Given the description of an element on the screen output the (x, y) to click on. 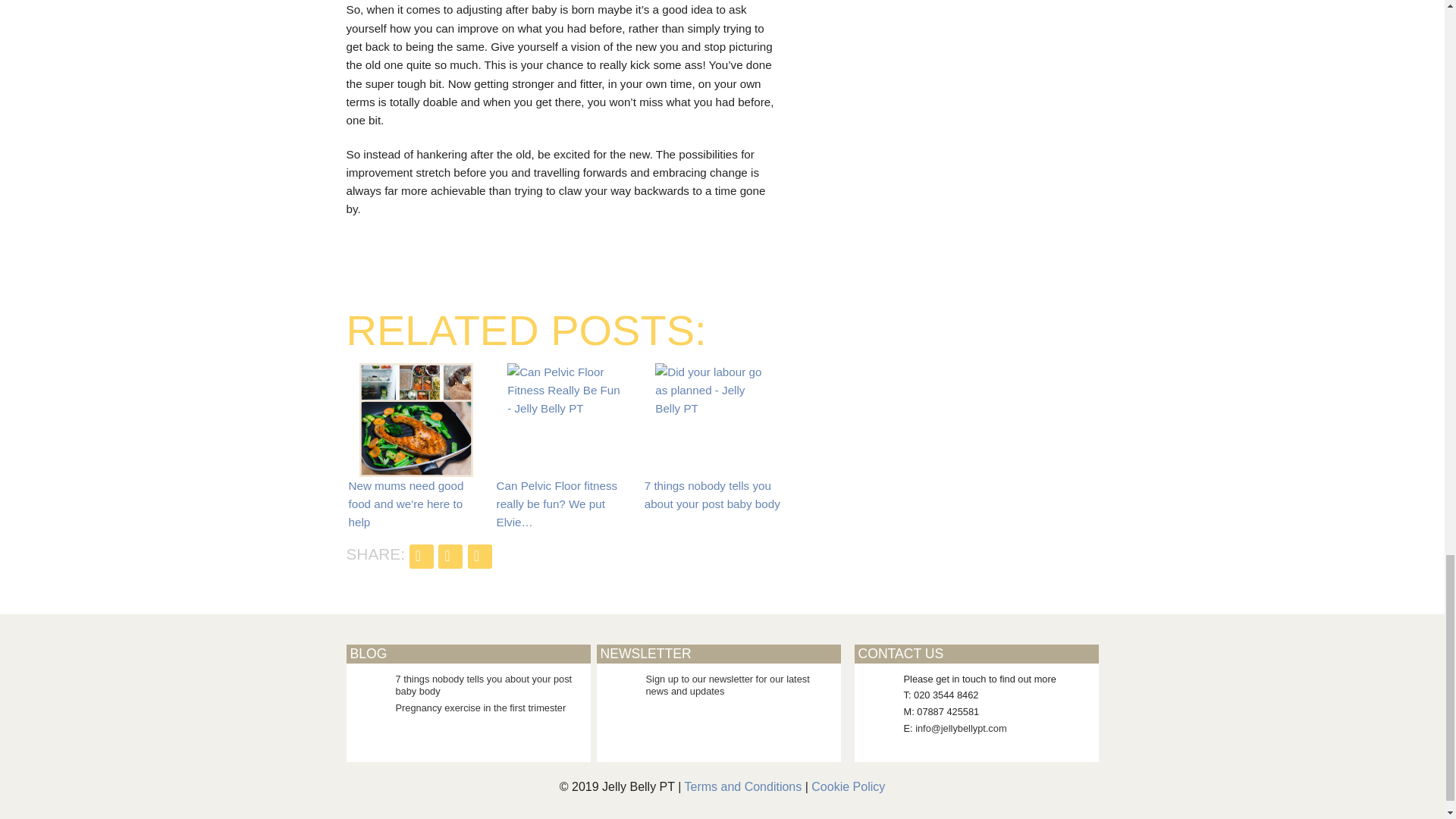
7 things nobody tells you about your post baby body (711, 400)
Sign up to our newsletter for our latest news and updates (727, 685)
7 things nobody tells you about your post baby body (484, 685)
Cookie Policy (847, 786)
Terms and Conditions (743, 786)
Pregnancy exercise in the first trimester (481, 707)
New mums need good food and we're here to help (416, 419)
